Given the description of an element on the screen output the (x, y) to click on. 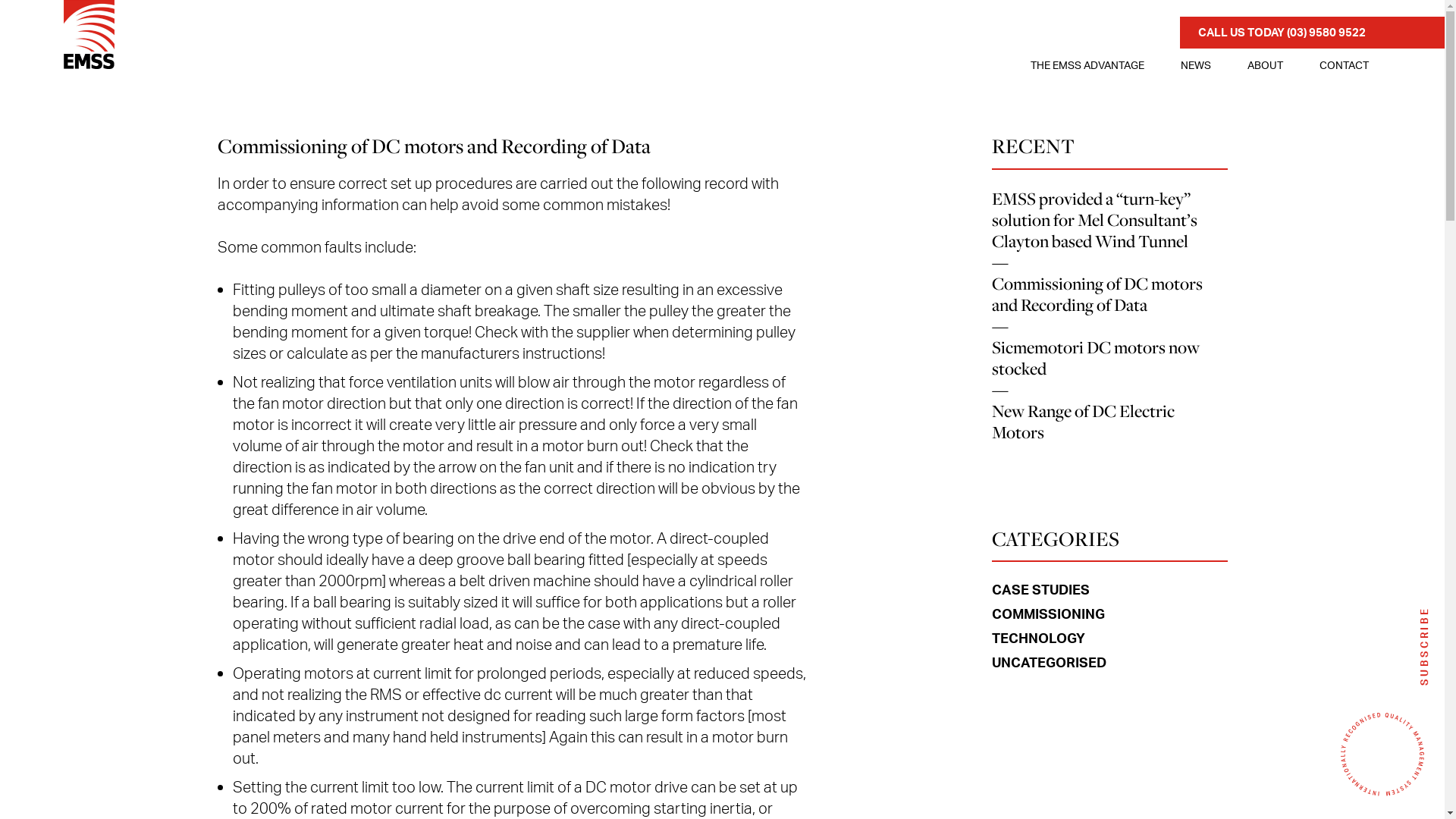
THE EMSS ADVANTAGE Element type: text (1087, 65)
COMMISSIONING Element type: text (1047, 613)
UNCATEGORISED Element type: text (1048, 661)
CONTACT Element type: text (1343, 65)
Commissioning of DC motors and Recording of Data Element type: text (1096, 293)
CALL US TODAY (03) 9580 9522 Element type: text (1311, 32)
CASE STUDIES Element type: text (1040, 588)
NEWS Element type: text (1195, 65)
ABOUT Element type: text (1265, 65)
Sicmemotori DC motors now stocked Element type: text (1095, 357)
New Range of DC Electric Motors Element type: text (1082, 421)
TECHNOLOGY Element type: text (1038, 637)
